Given the description of an element on the screen output the (x, y) to click on. 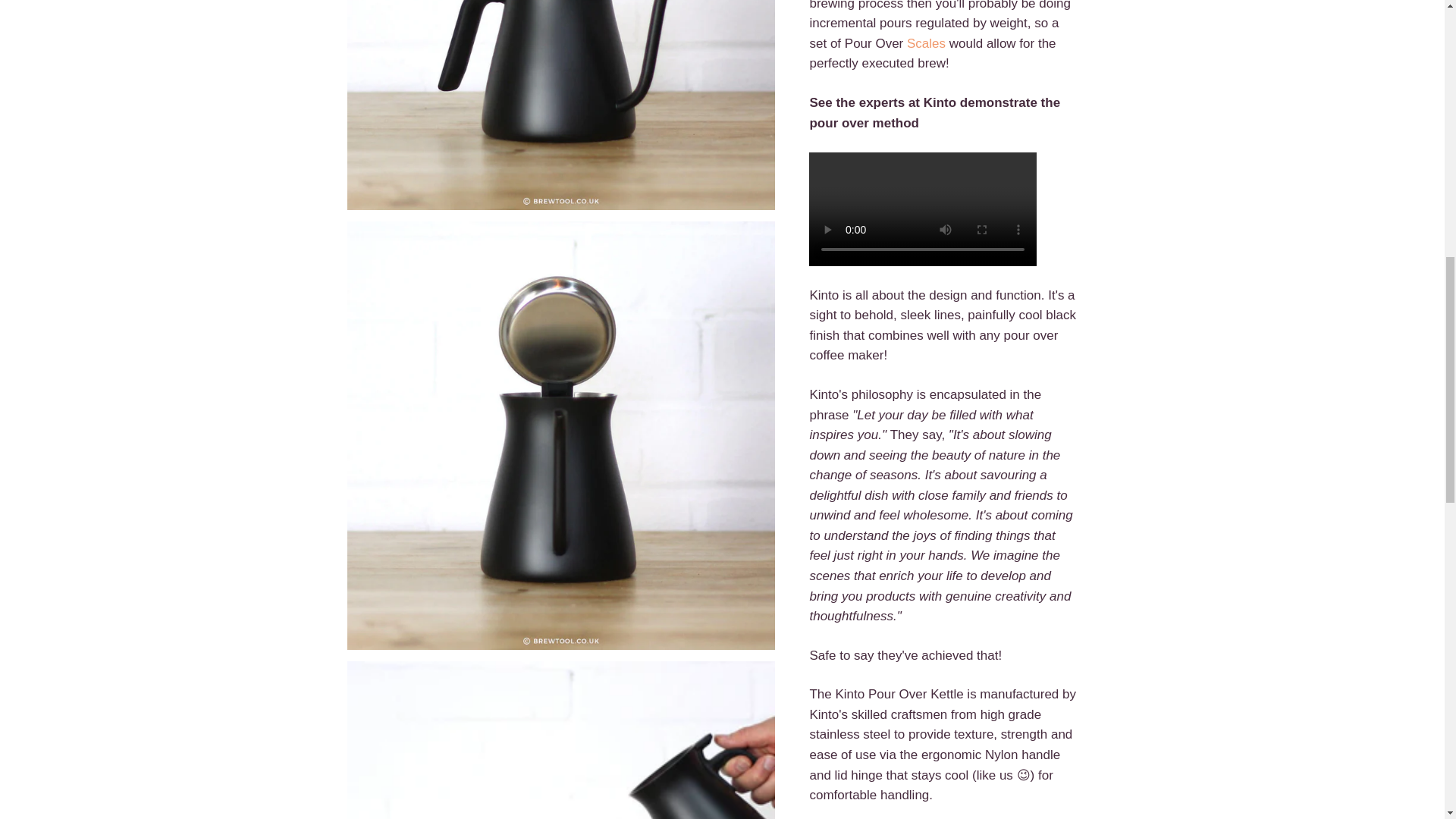
Accessories (925, 43)
